Given the description of an element on the screen output the (x, y) to click on. 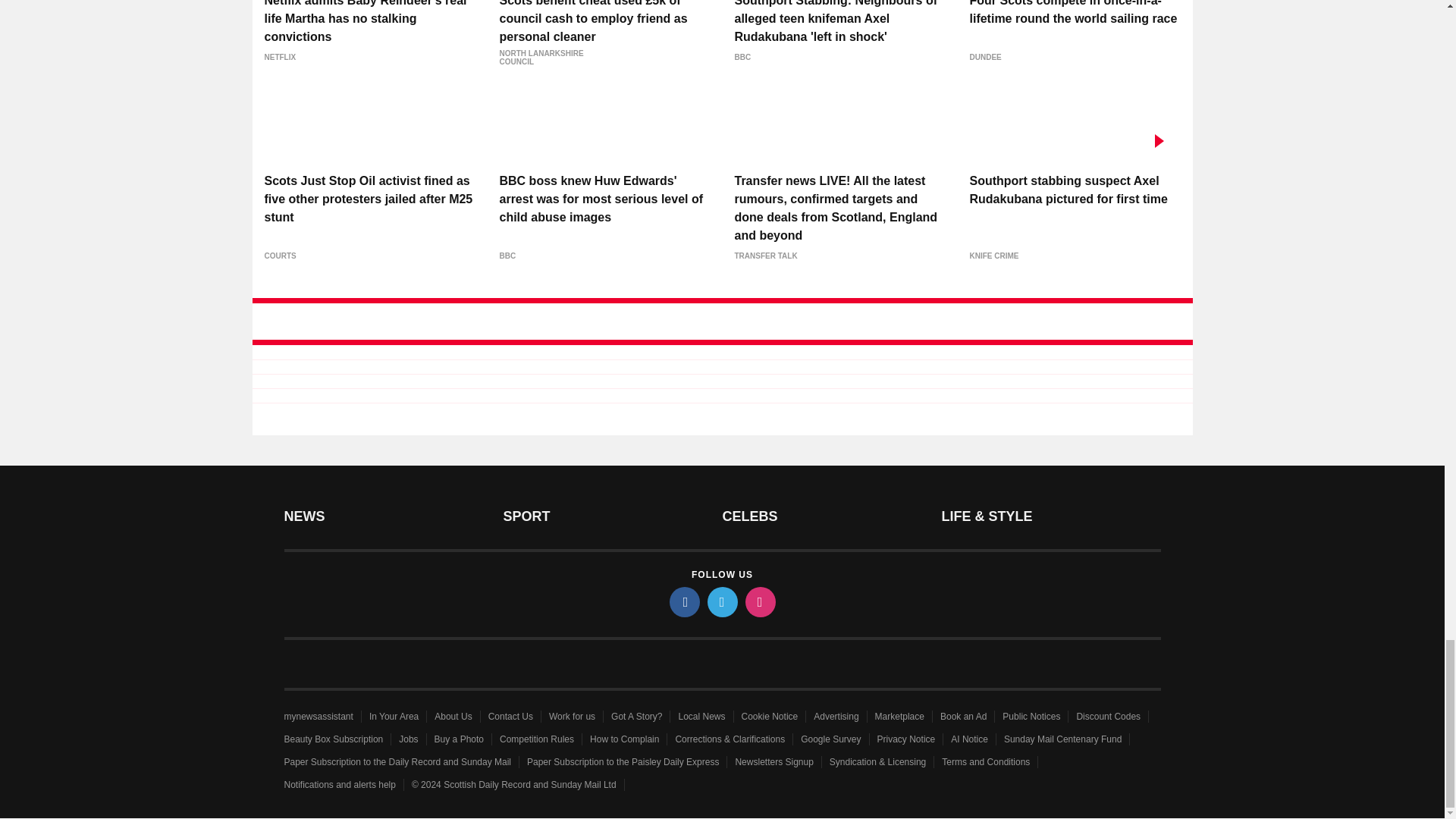
instagram (759, 602)
facebook (683, 602)
twitter (721, 602)
